Given the description of an element on the screen output the (x, y) to click on. 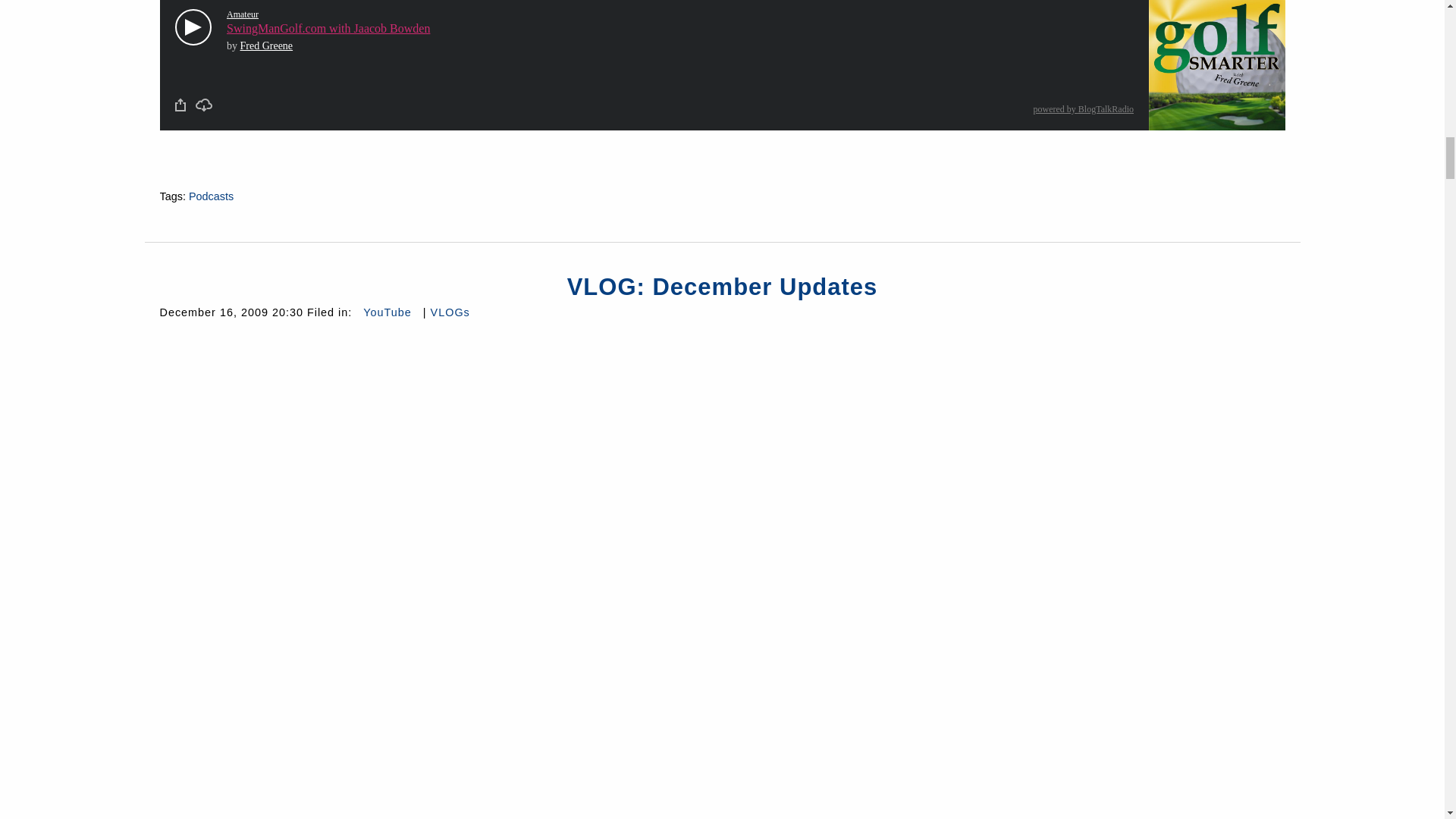
VLOG: December Updates (722, 286)
VLOGs (450, 312)
YouTube (387, 312)
Podcasts (210, 196)
Podcasts (210, 196)
